Given the description of an element on the screen output the (x, y) to click on. 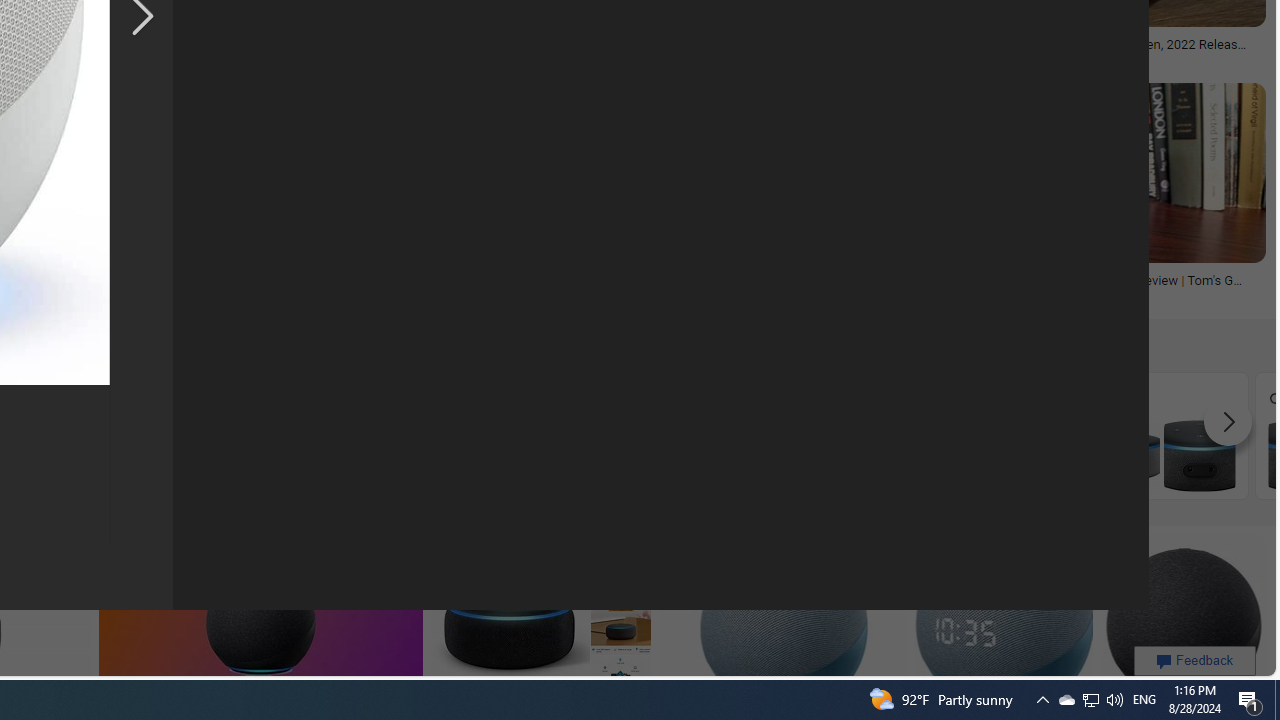
edysdeals.com (552, 58)
exotique.com.mt (178, 57)
Echo Dot 3rd Gen - Buy the smartest speaker in 2020 (551, 50)
Free (1162, 435)
Sales Chart (981, 435)
Free Amazon Echo Dot (1162, 455)
Amazon Echo Dot Carpher (441, 455)
